Given the description of an element on the screen output the (x, y) to click on. 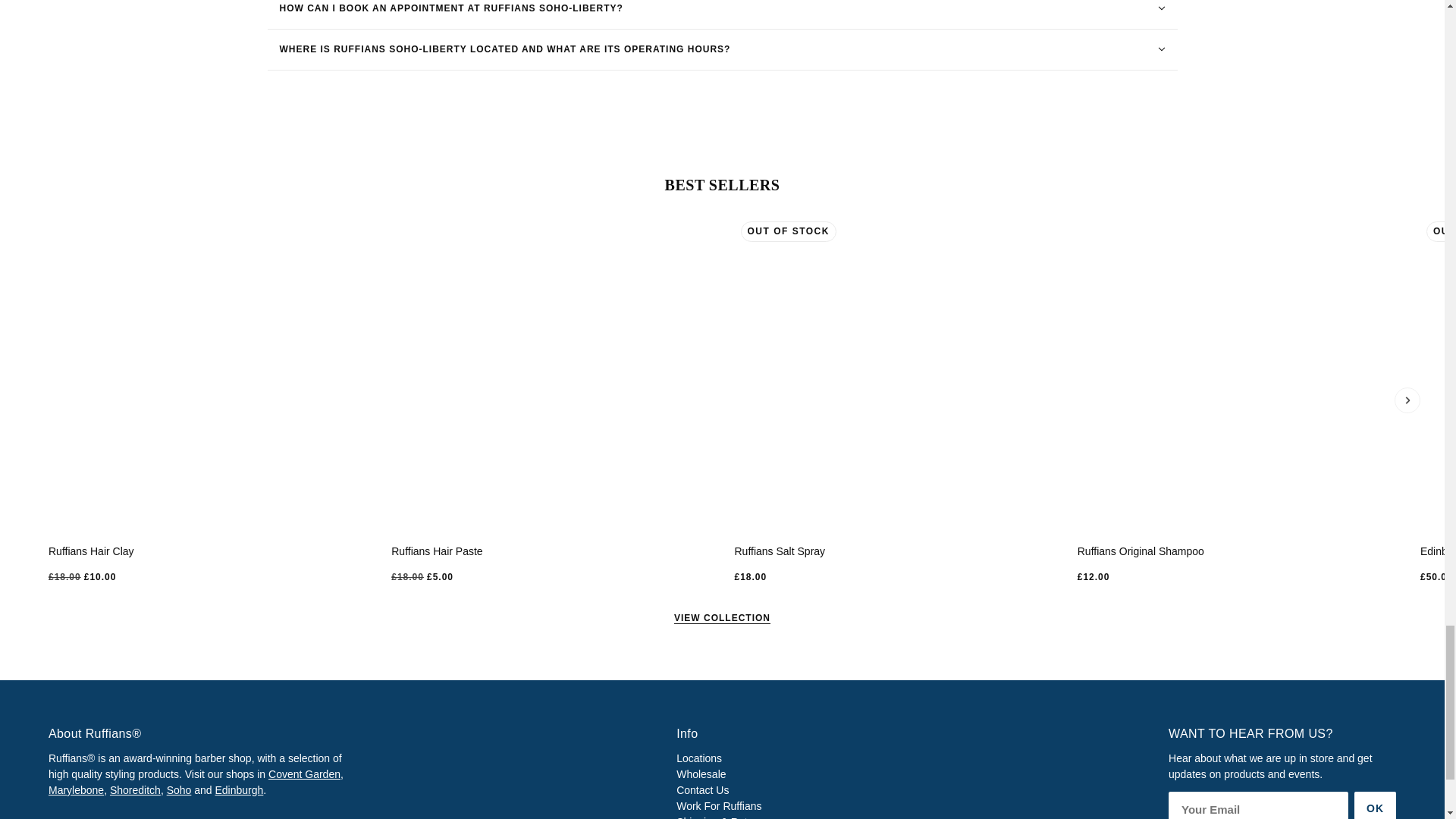
BEST SELLERS (722, 184)
Ruffians Soho - Liberty (179, 789)
Ruffians Marylebone (75, 789)
Contact Us (703, 789)
Wholesale (701, 774)
Covent Garden (303, 774)
Ruffians Shoreditch (135, 789)
VIEW COLLECTION (722, 618)
Ruffians Edinburgh (239, 789)
Locations (699, 758)
